Given the description of an element on the screen output the (x, y) to click on. 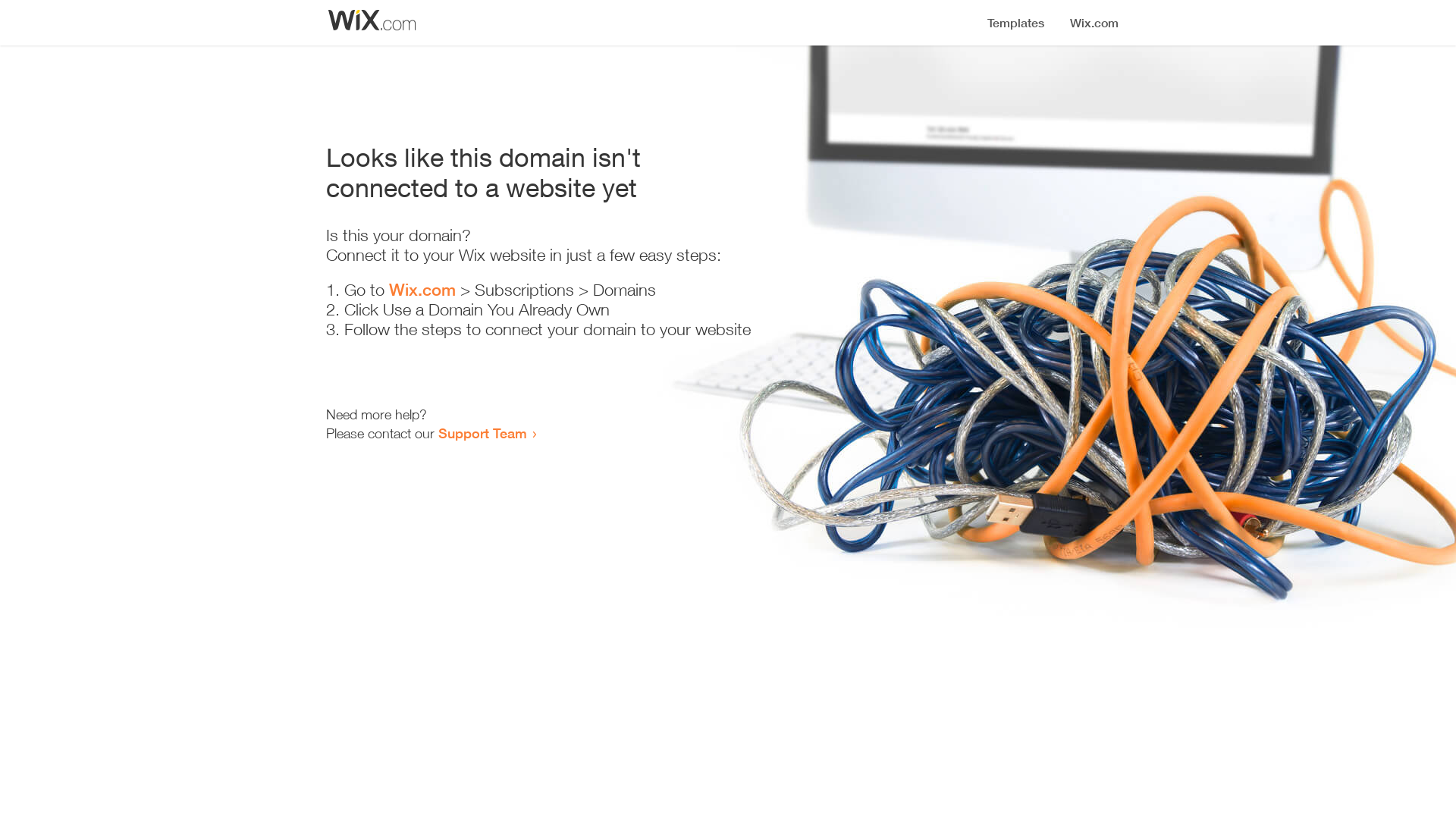
Support Team Element type: text (482, 432)
Wix.com Element type: text (422, 289)
